Given the description of an element on the screen output the (x, y) to click on. 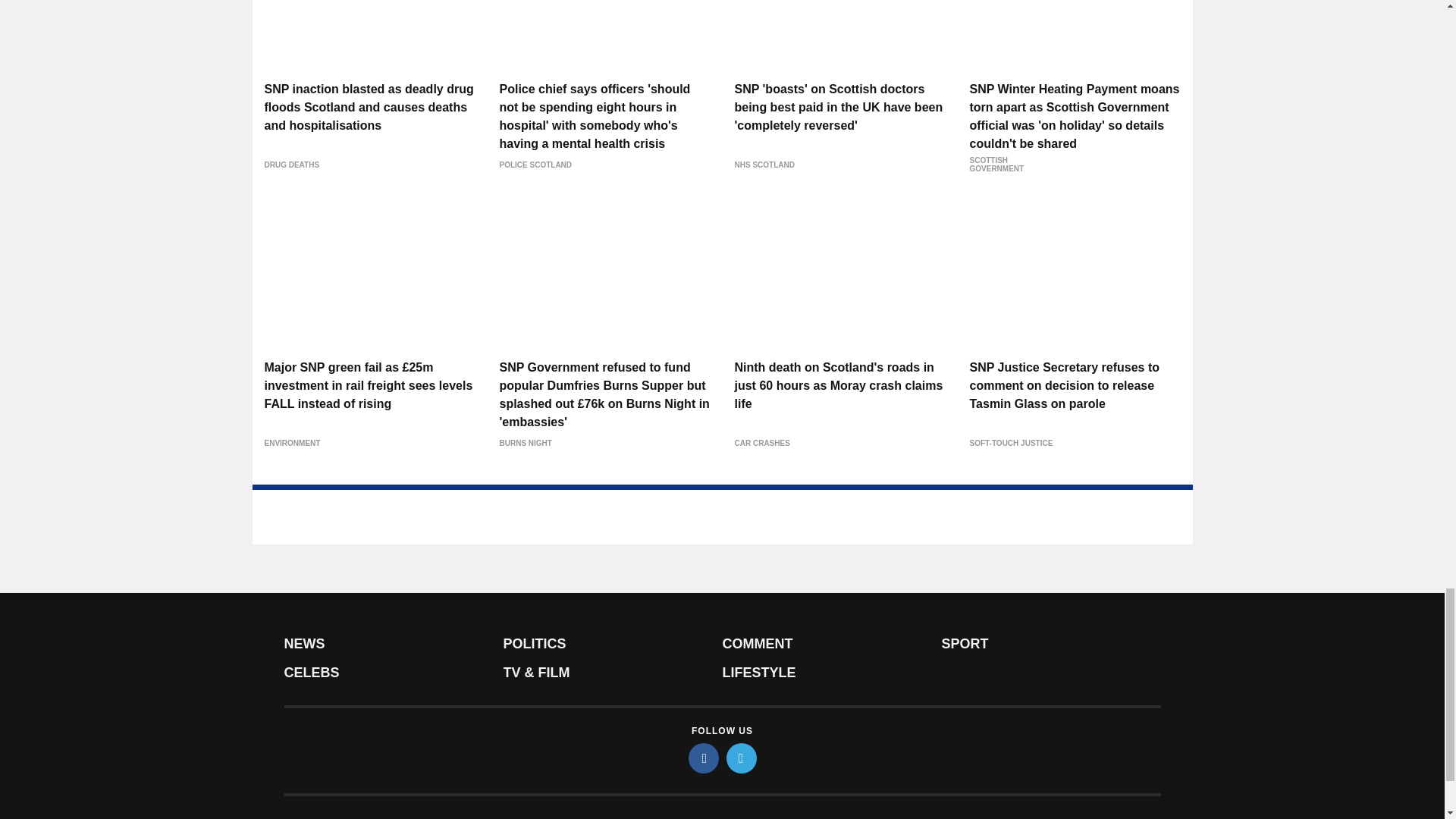
twitter (741, 757)
facebook (703, 757)
